Given the description of an element on the screen output the (x, y) to click on. 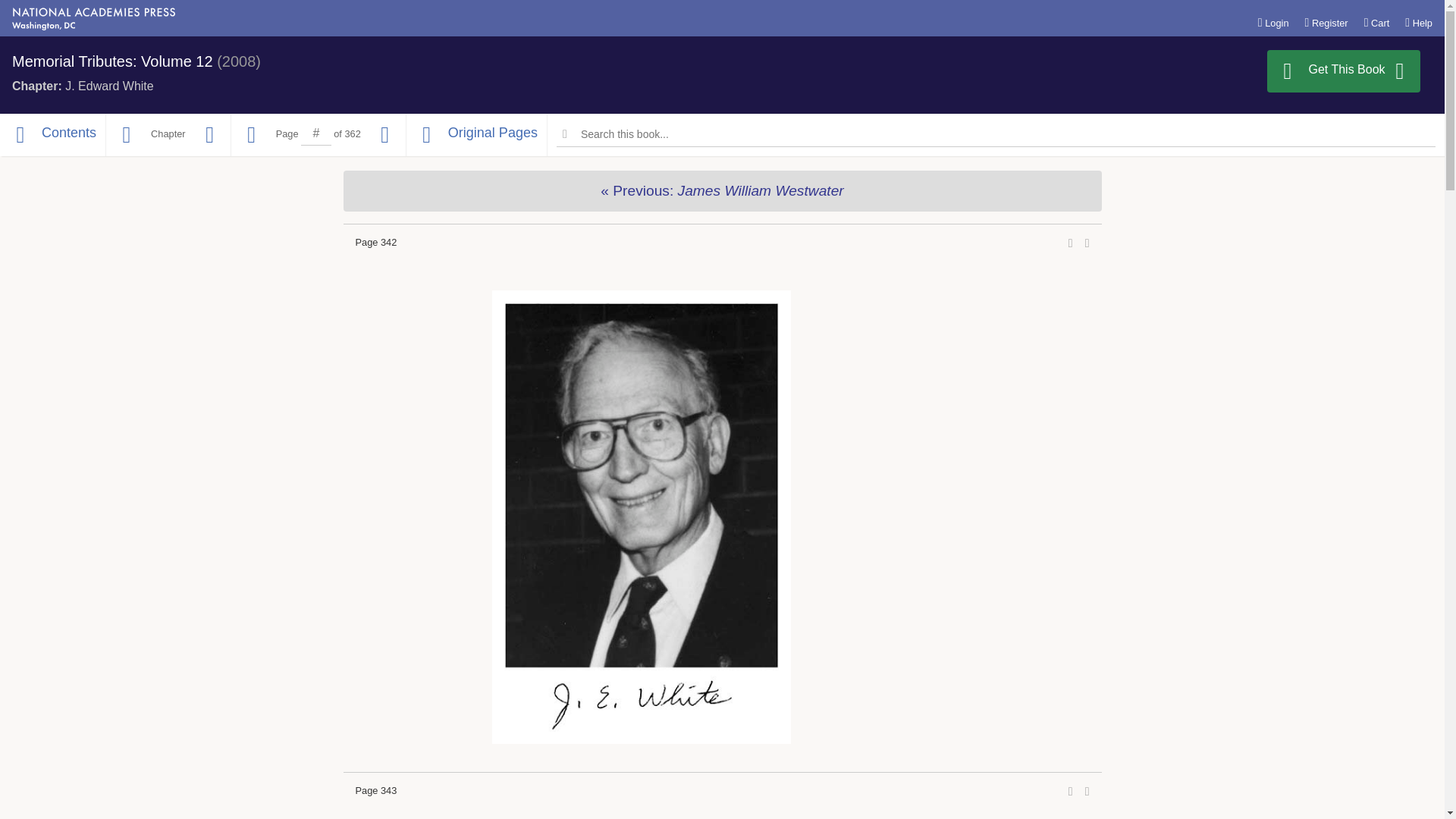
Memorial Tributes: Volume 12 (111, 61)
Next Chapter (209, 134)
Contents (52, 134)
Help (1418, 22)
Next Page (385, 134)
Cart (1377, 22)
Register (1326, 22)
Buy or download a copy of this book. (1343, 70)
Login (1272, 22)
Original Pages (476, 134)
